Given the description of an element on the screen output the (x, y) to click on. 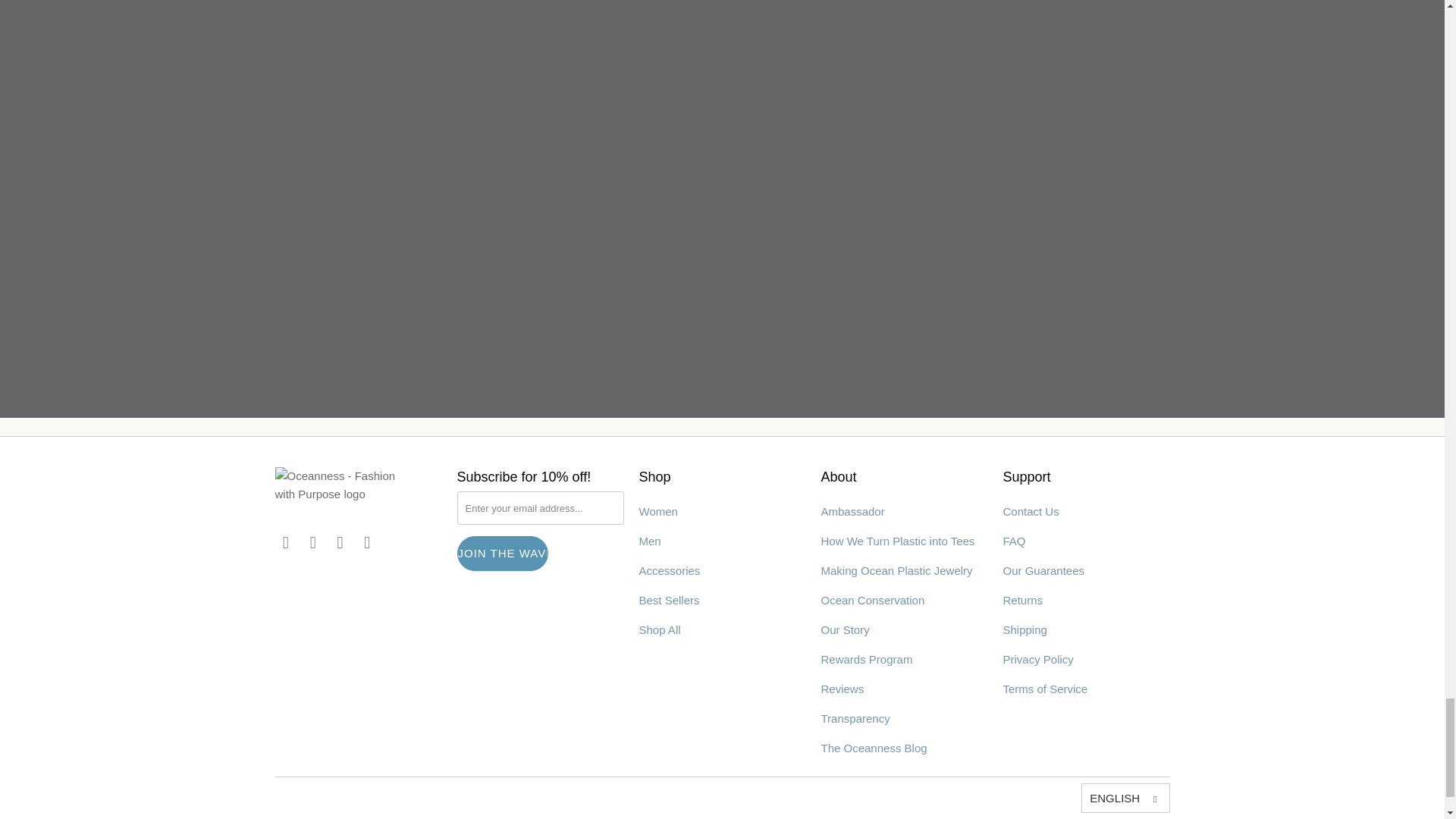
Join the wave (502, 553)
